Given the description of an element on the screen output the (x, y) to click on. 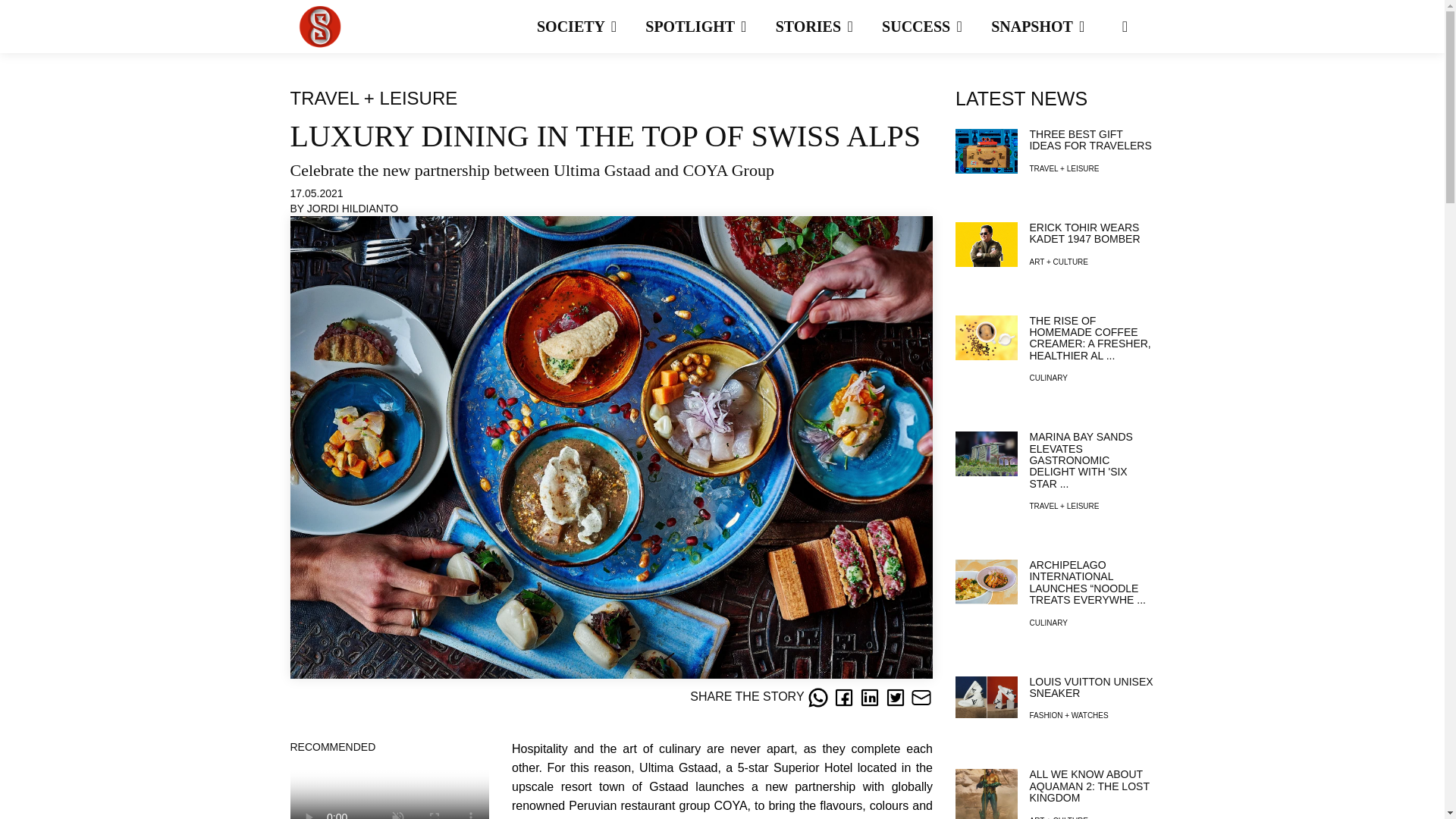
SOCIETY (590, 26)
SPOTLIGHT (709, 26)
SNAPSHOT (1050, 26)
STORIES (827, 26)
SUCCESS (935, 26)
